Given the description of an element on the screen output the (x, y) to click on. 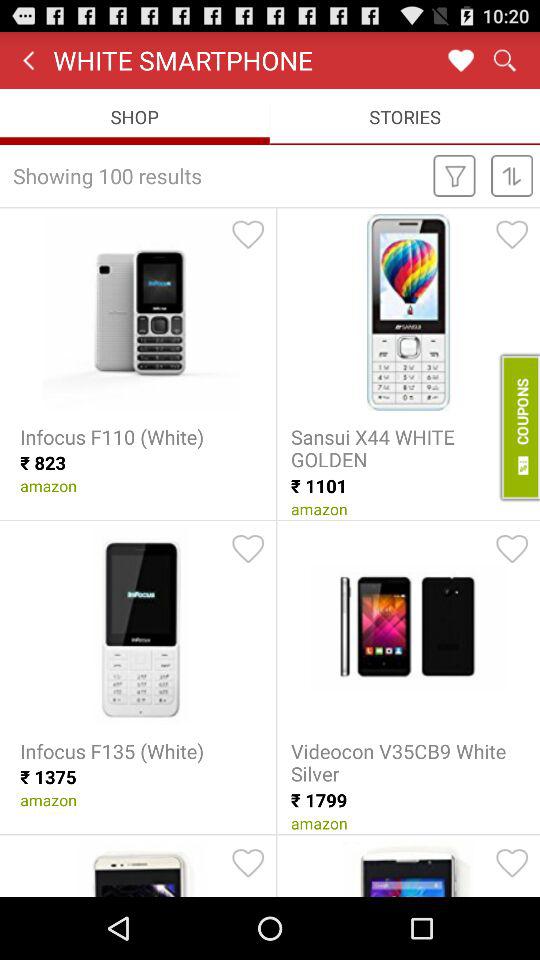
favorite (512, 863)
